Given the description of an element on the screen output the (x, y) to click on. 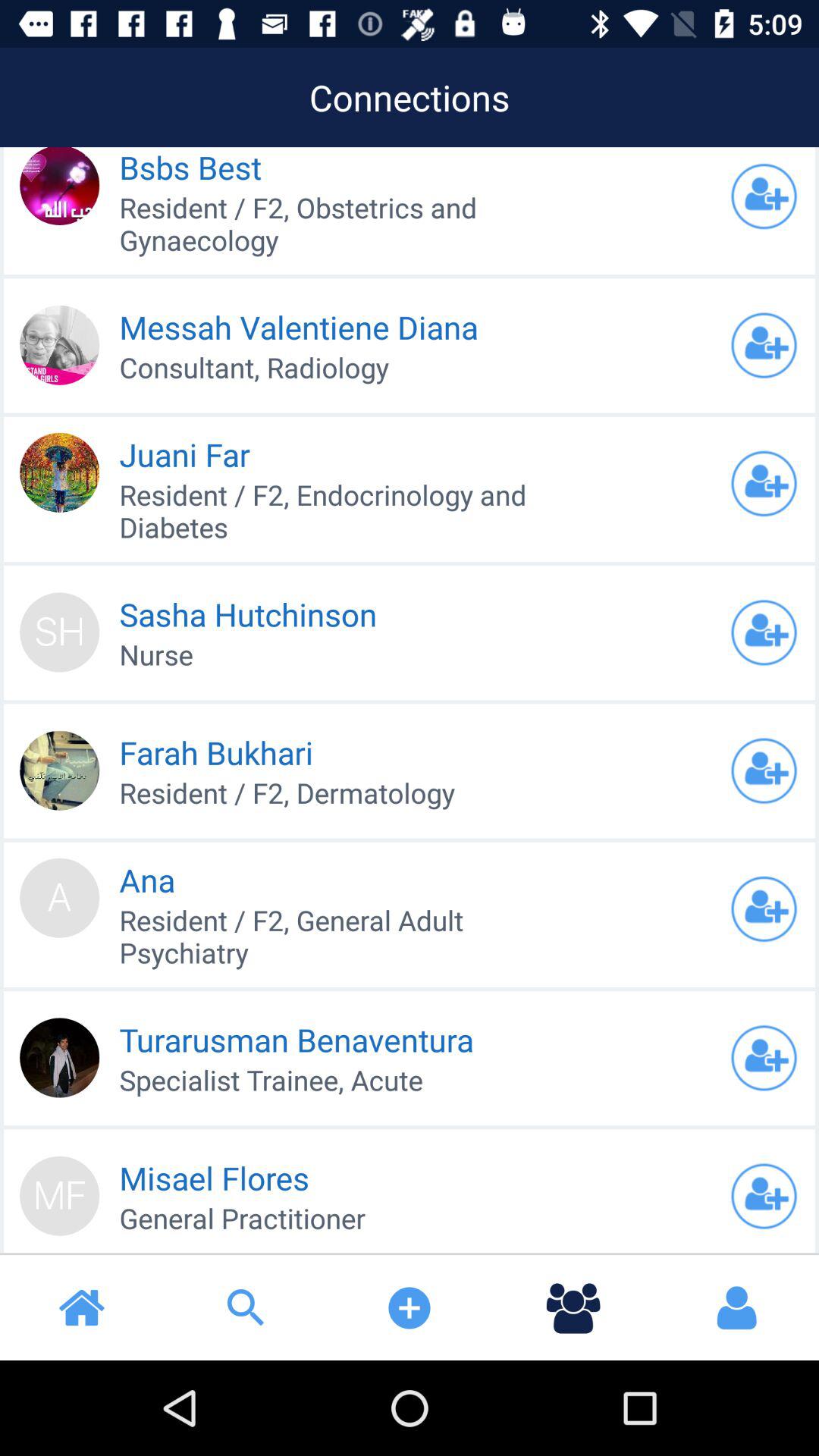
open profile (764, 1058)
